Given the description of an element on the screen output the (x, y) to click on. 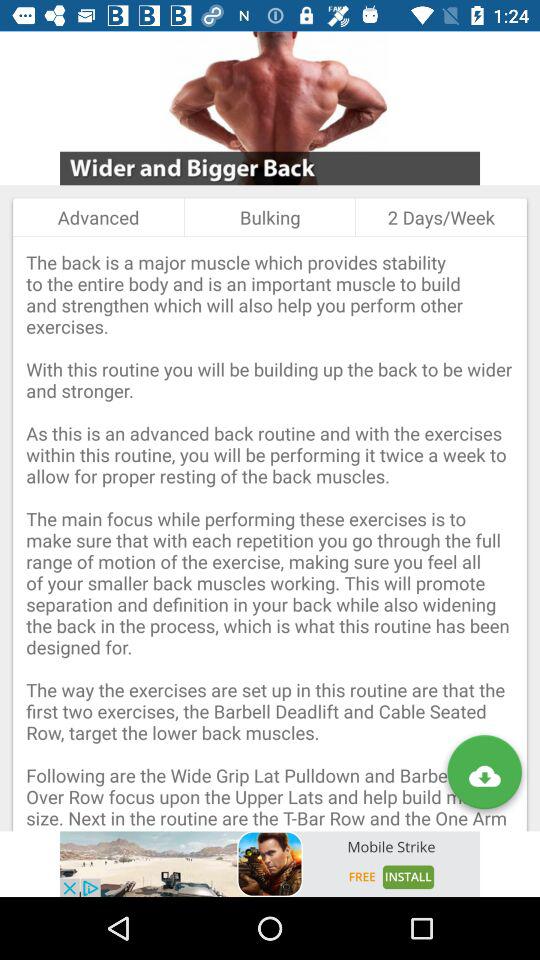
turn off the item above the back is icon (269, 217)
